Given the description of an element on the screen output the (x, y) to click on. 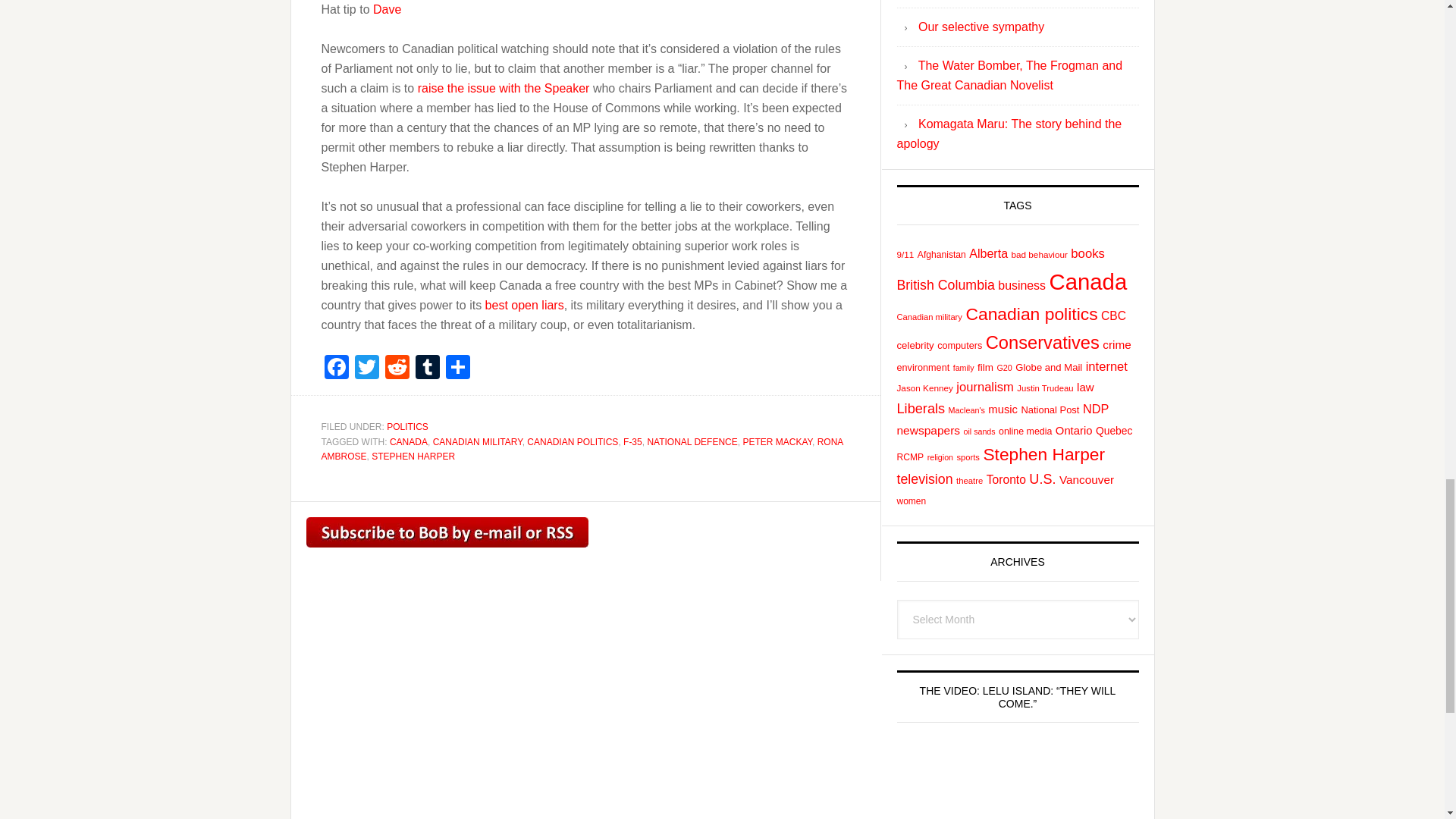
Facebook (336, 368)
NATIONAL DEFENCE (691, 441)
Reddit (396, 368)
F-35 (632, 441)
Share (457, 368)
CANADIAN MILITARY (477, 441)
RONA AMBROSE (582, 449)
Reddit (396, 368)
Tumblr (427, 368)
Dave (386, 9)
POLITICS (407, 426)
Tumblr (427, 368)
best open liars (524, 305)
Twitter (366, 368)
raise the issue with the Speaker (503, 88)
